Given the description of an element on the screen output the (x, y) to click on. 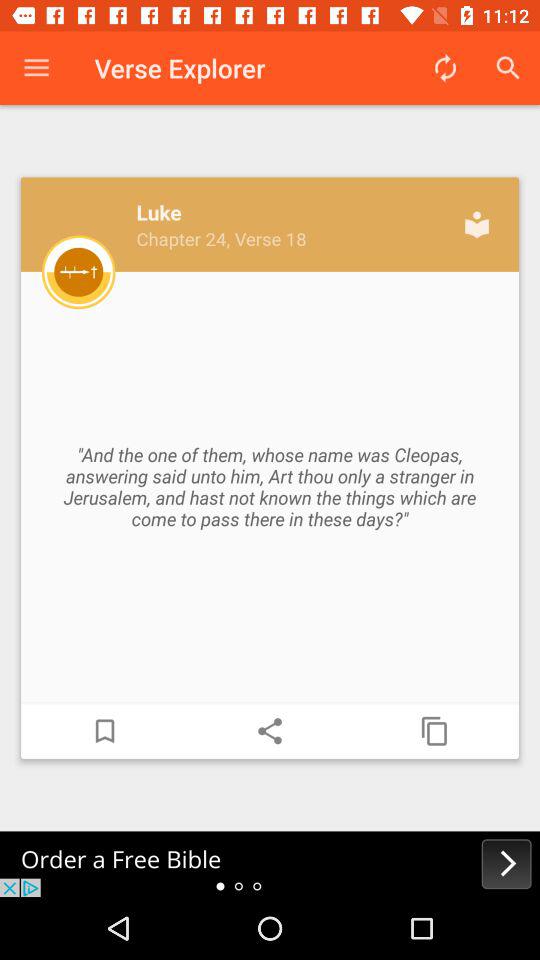
share bible verse (270, 731)
